Given the description of an element on the screen output the (x, y) to click on. 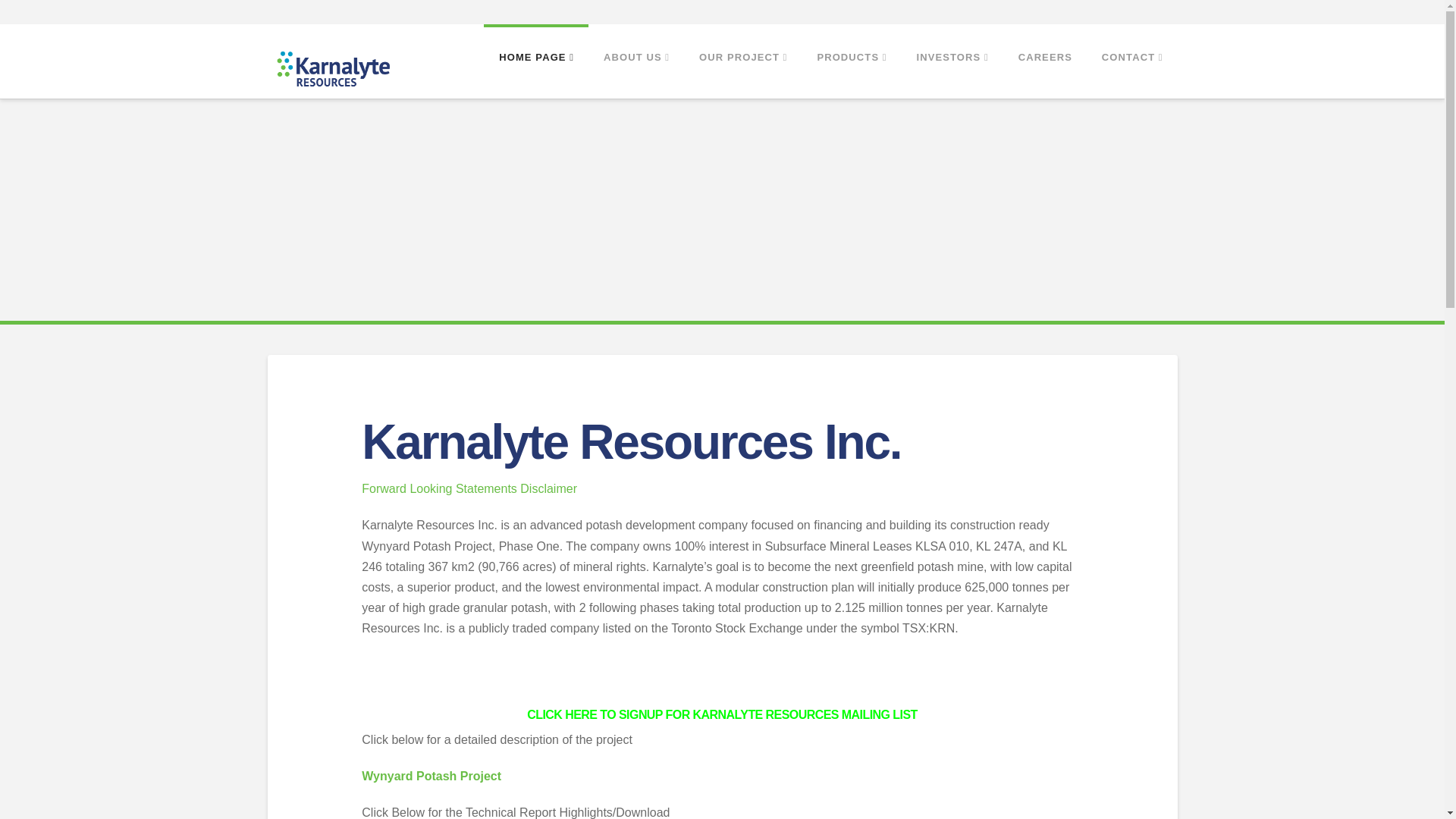
CAREERS (1044, 58)
INVESTORS (952, 58)
CONTACT (1131, 58)
A Great Company (332, 69)
OUR PROJECT (743, 58)
HOME PAGE (535, 58)
PRODUCTS (851, 58)
ABOUT US (636, 58)
